Given the description of an element on the screen output the (x, y) to click on. 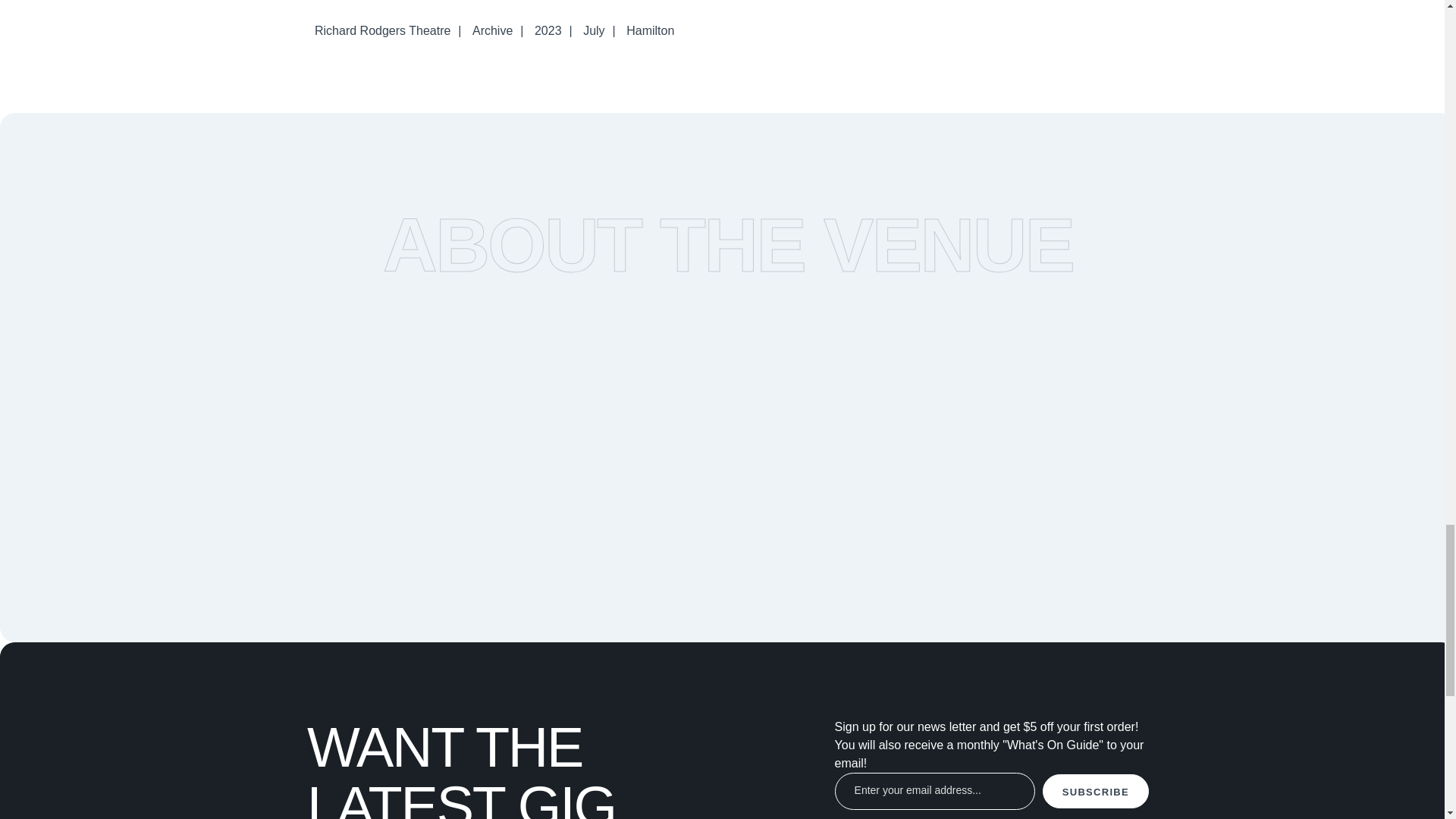
SUBSCRIBE (1095, 790)
Archive (491, 30)
July (593, 30)
2023 (548, 30)
Richard Rodgers Theatre (382, 30)
